Given the description of an element on the screen output the (x, y) to click on. 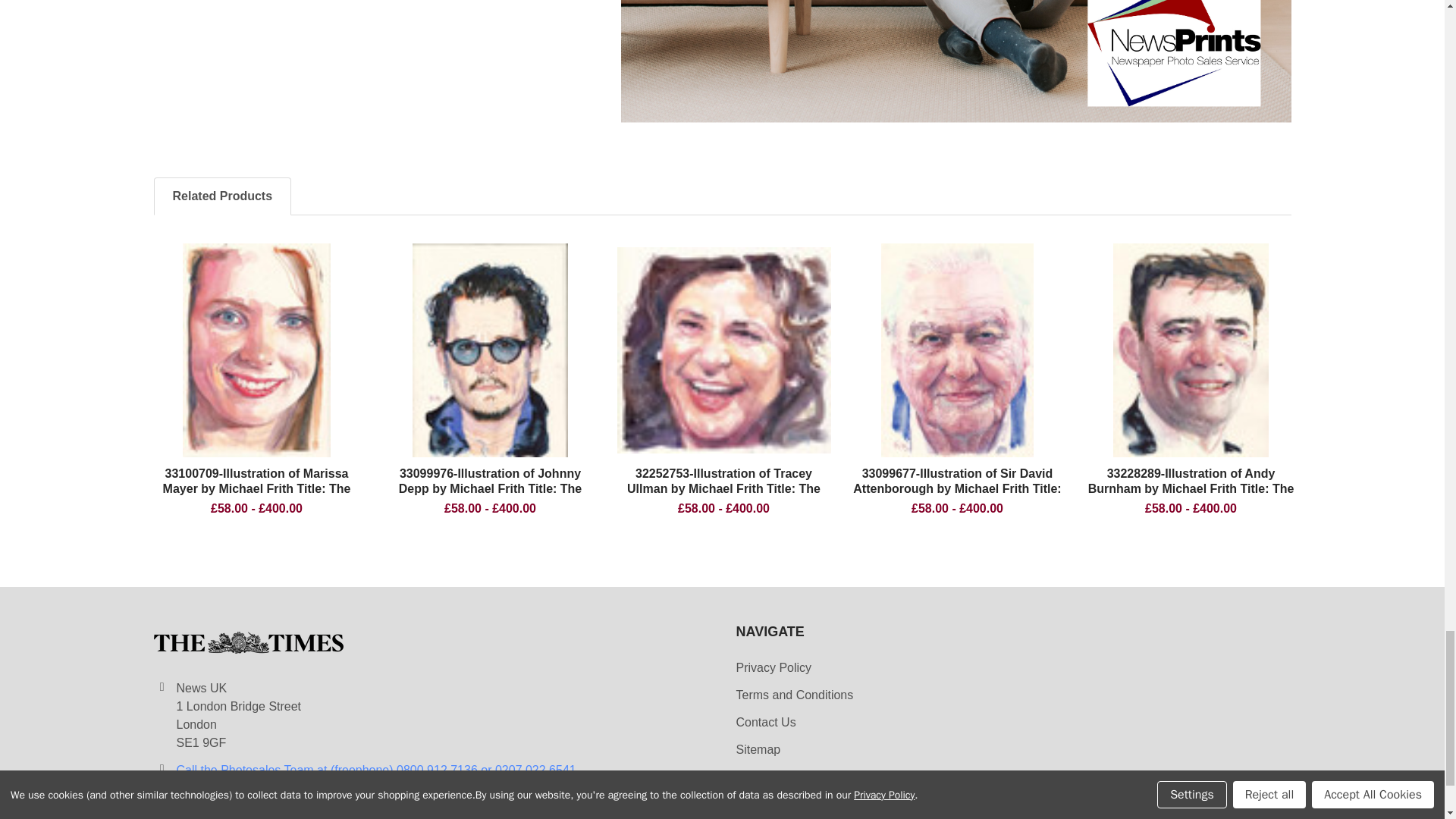
image 1 (957, 350)
image 1 (256, 350)
image 1 (1191, 350)
image 1 (490, 350)
image 1 (724, 349)
